Given the description of an element on the screen output the (x, y) to click on. 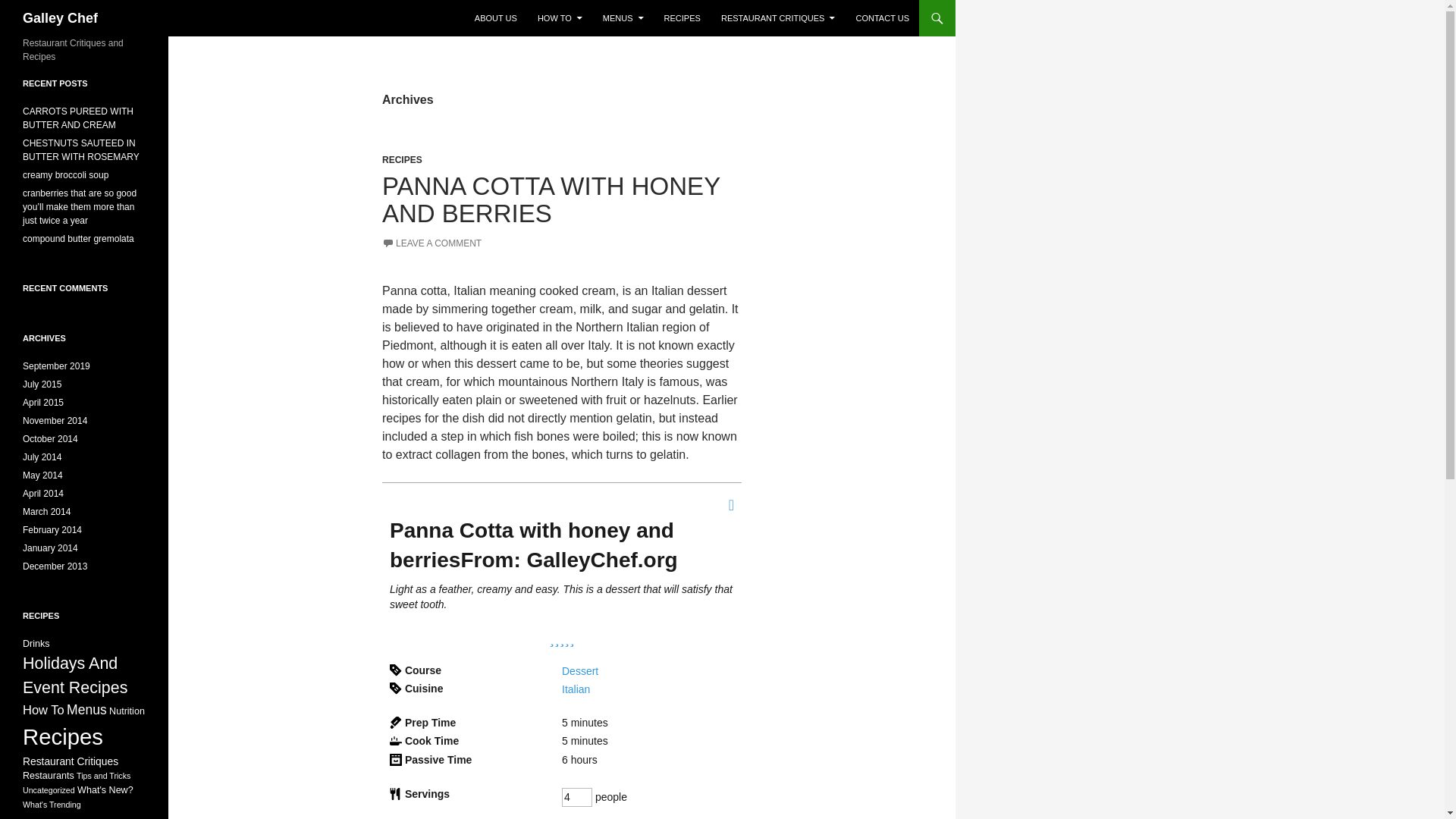
Italian (575, 689)
CARROTS PUREED WITH BUTTER AND CREAM (78, 118)
Galley Chef (60, 18)
LEAVE A COMMENT (431, 243)
HOW TO (559, 18)
CONTACT US (881, 18)
Dessert (580, 671)
RECIPES (401, 159)
